Given the description of an element on the screen output the (x, y) to click on. 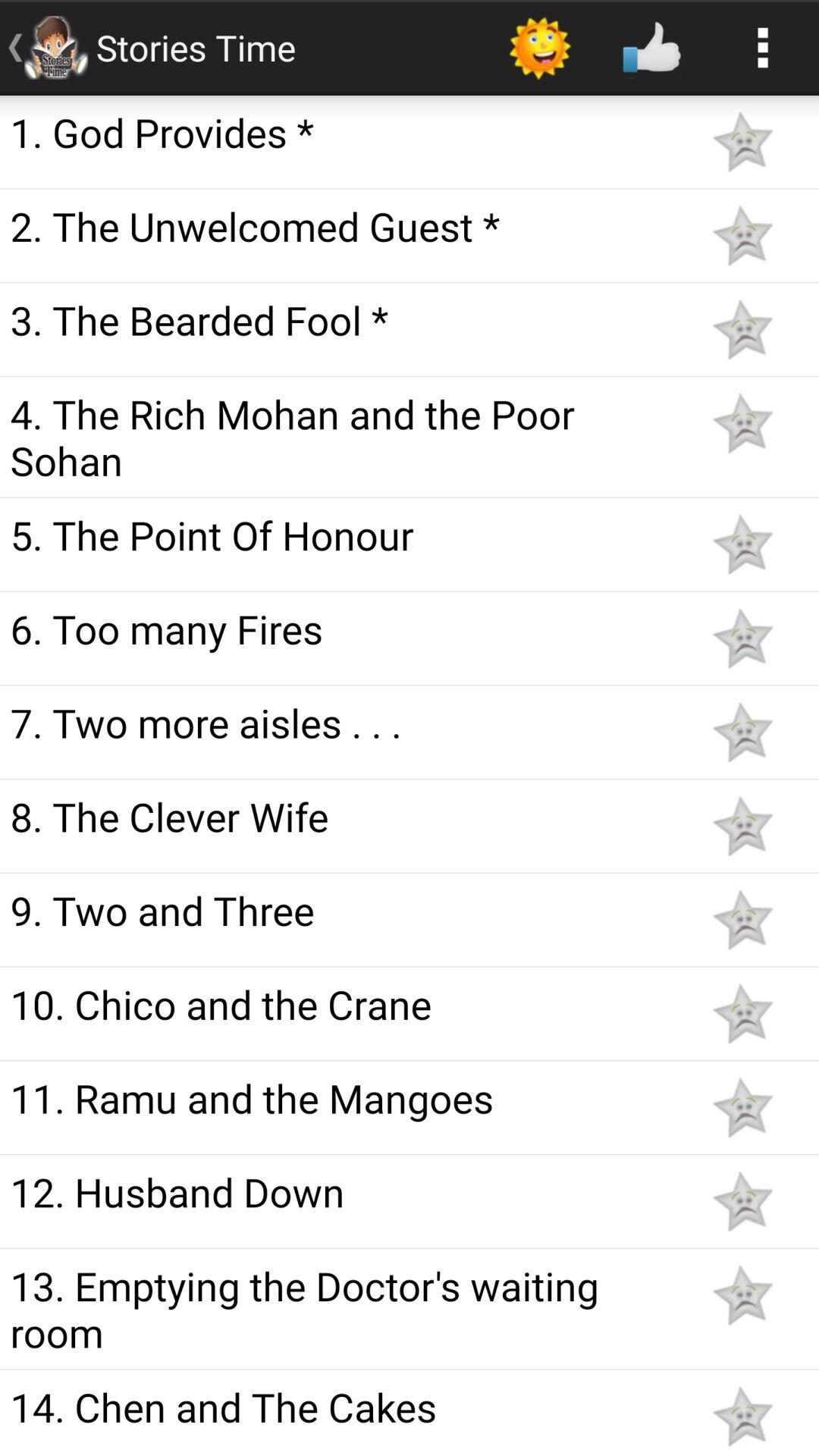
add to bookmark (742, 1013)
